Given the description of an element on the screen output the (x, y) to click on. 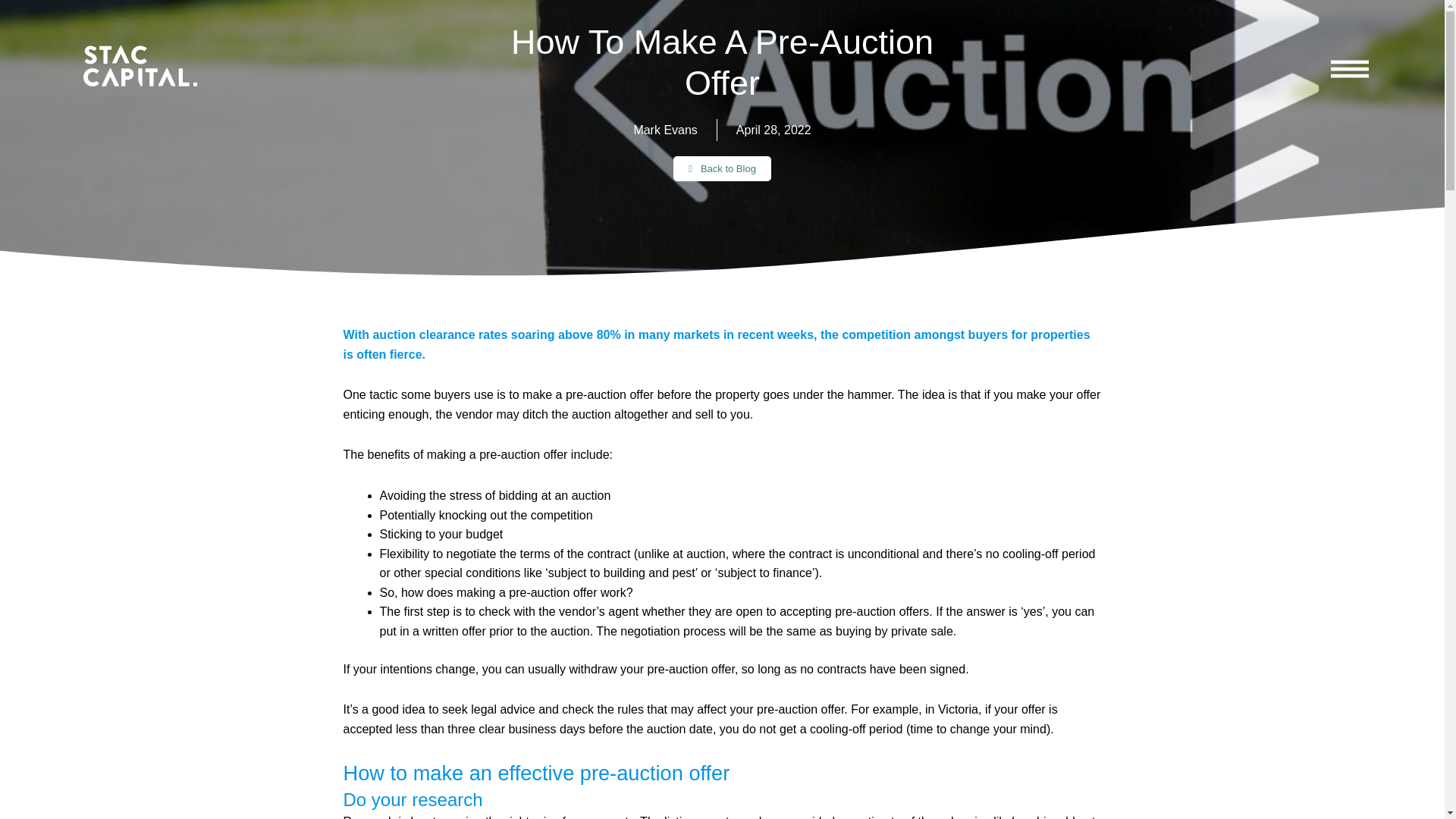
Back to Blog (721, 168)
Mark Evans (665, 129)
April 28, 2022 (773, 129)
